Given the description of an element on the screen output the (x, y) to click on. 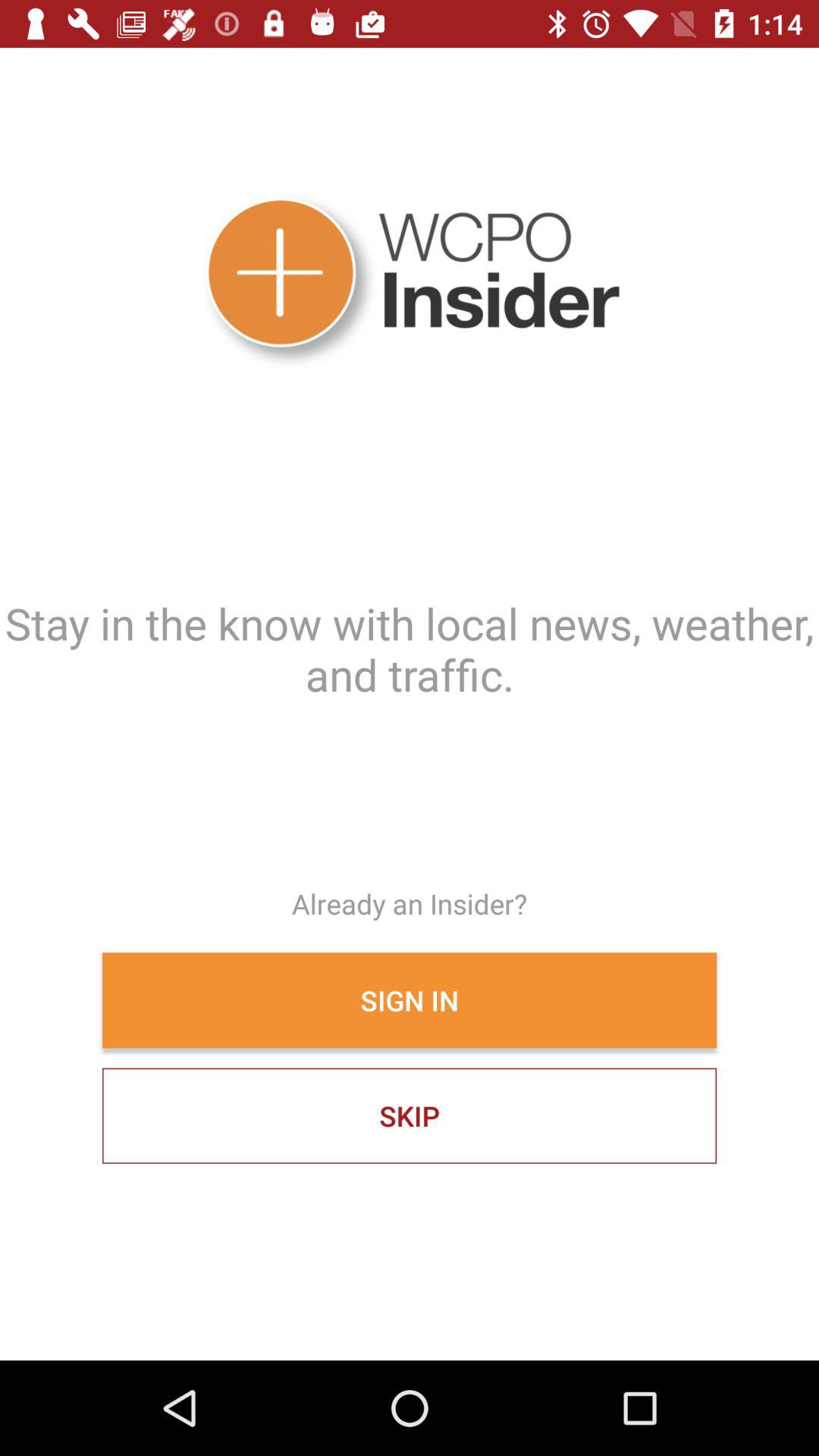
flip to skip item (409, 1115)
